Given the description of an element on the screen output the (x, y) to click on. 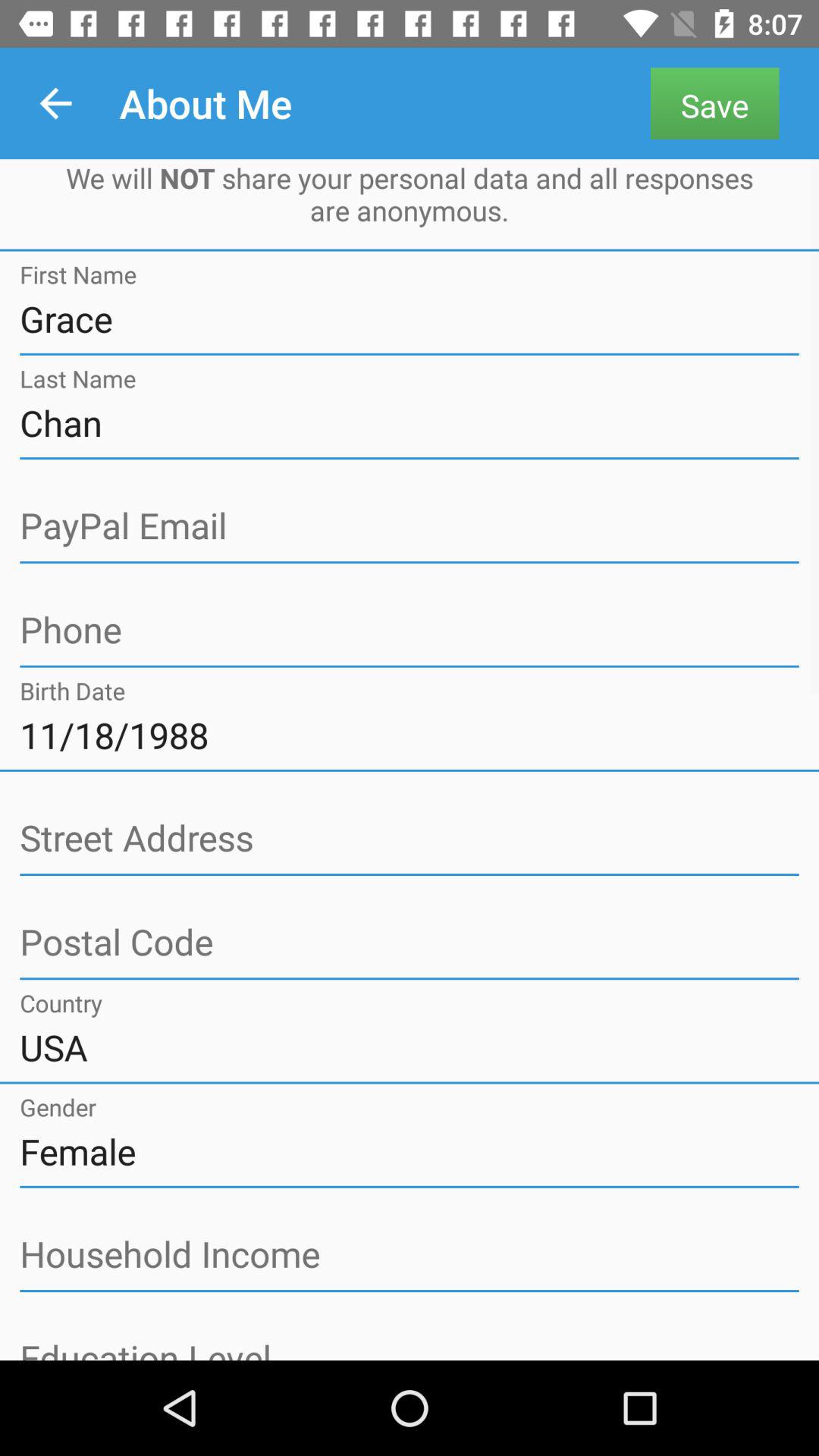
enter postal code (409, 943)
